Given the description of an element on the screen output the (x, y) to click on. 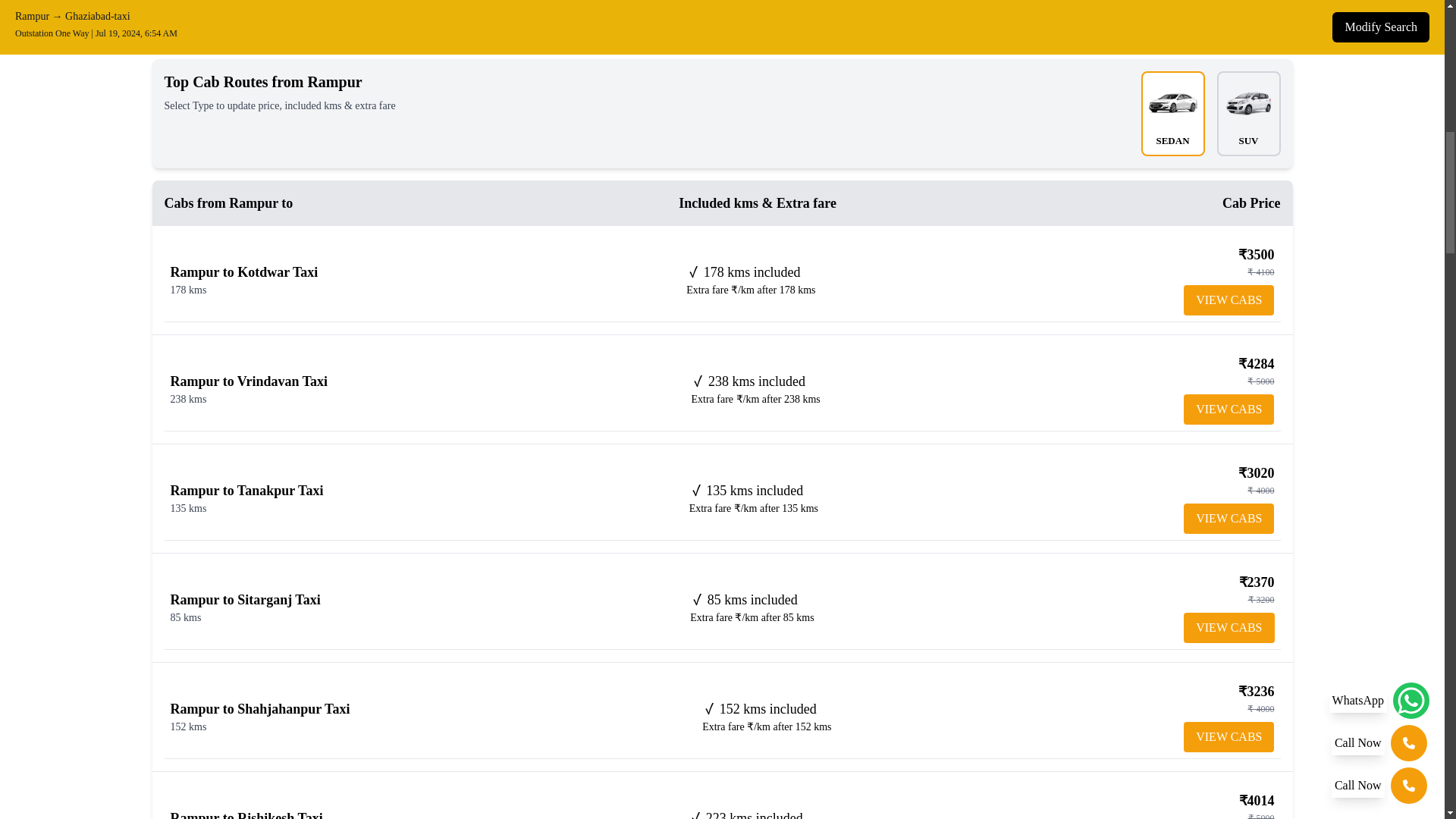
VIEW CABS (1228, 409)
Rampur to Sitarganj Taxi (245, 598)
VIEW CABS (1228, 627)
Rampur to Kotdwar Taxi (243, 271)
Rampur to Tanakpur Taxi (246, 489)
Rampur to Shahjahanpur Taxi (259, 708)
VIEW CABS (1228, 300)
VIEW CABS (1228, 518)
Rampur to Vrindavan Taxi (248, 380)
VIEW CABS (1228, 736)
Rampur to Rishikesh Taxi (245, 814)
